Given the description of an element on the screen output the (x, y) to click on. 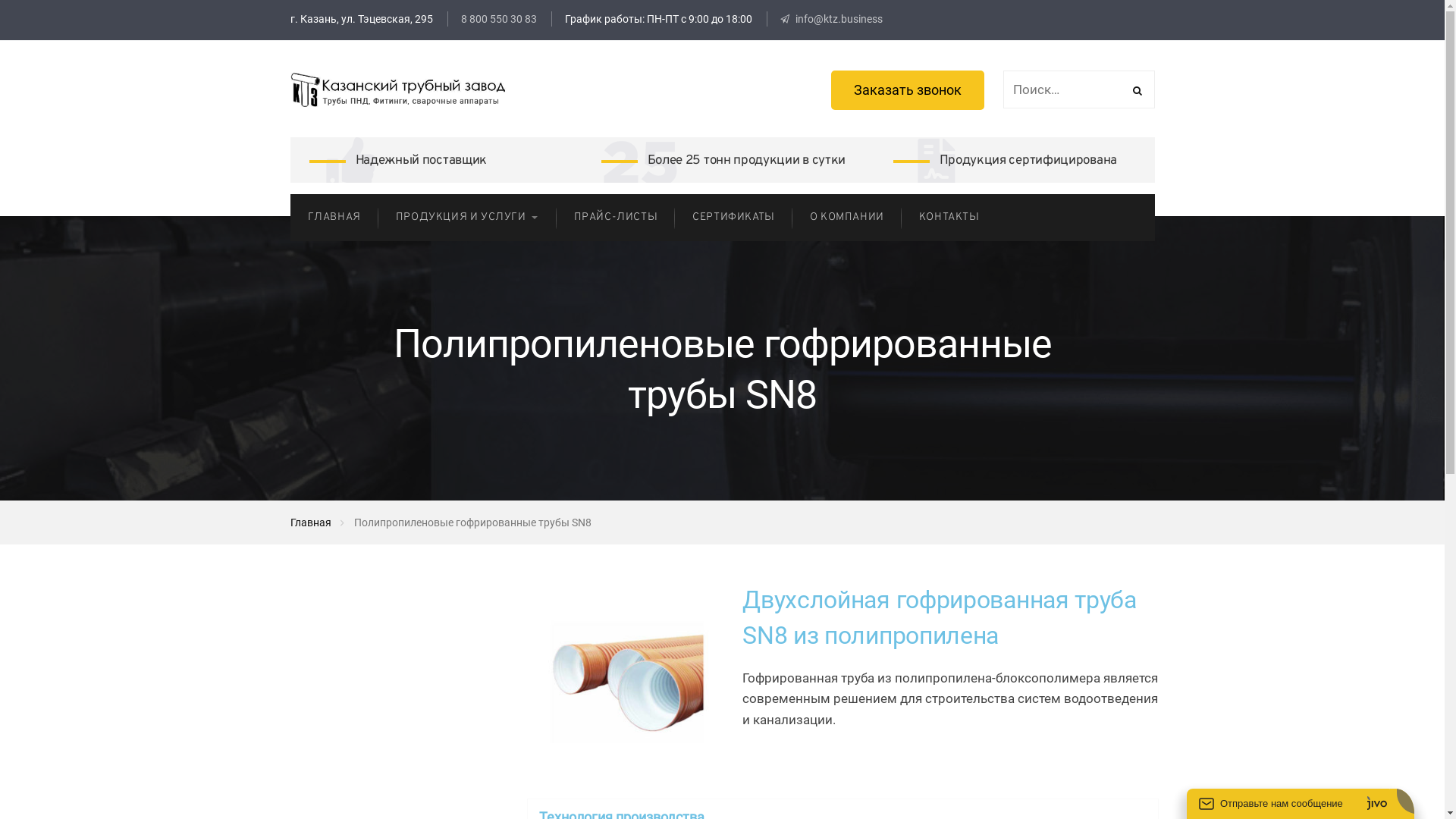
8 800 550 30 83 Element type: text (491, 18)
info@ktz.business Element type: text (830, 18)
8 800 550 30 83 Element type: text (498, 18)
